Given the description of an element on the screen output the (x, y) to click on. 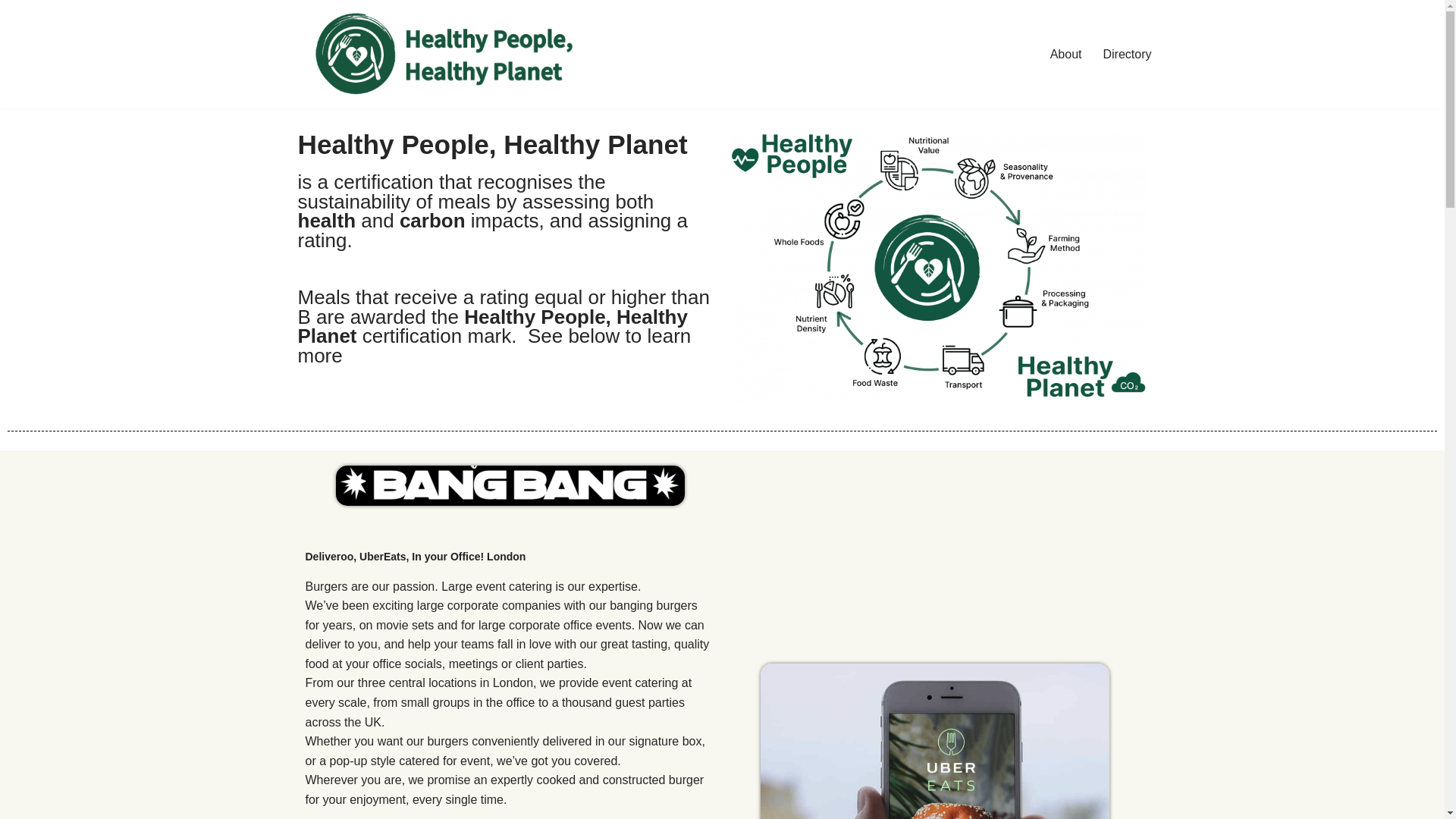
Skip to content (11, 31)
Directory (1126, 54)
About (1065, 54)
